Given the description of an element on the screen output the (x, y) to click on. 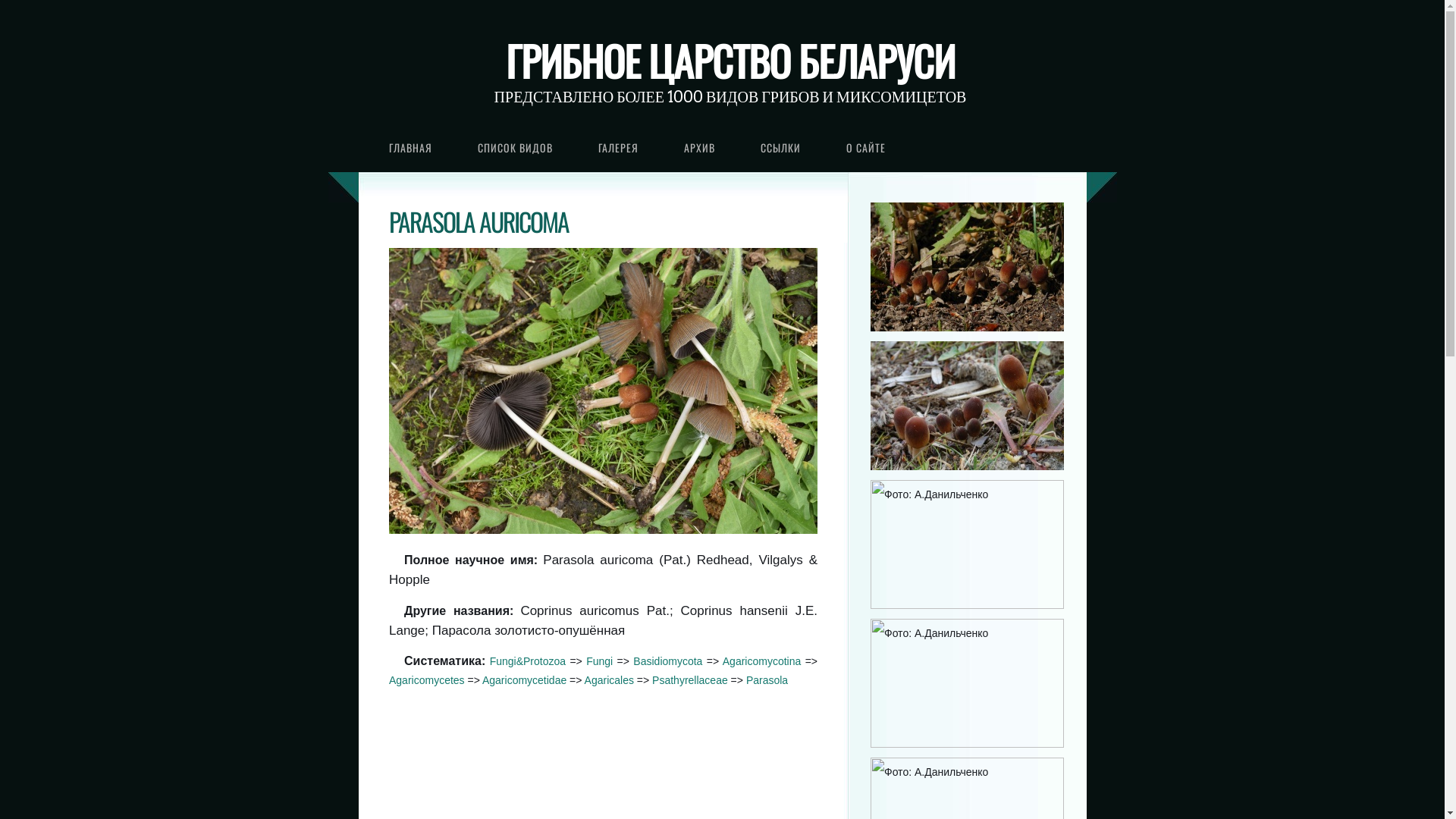
Fungi Element type: text (599, 661)
Agaricomycetidae Element type: text (524, 680)
Agaricomycotina Element type: text (761, 661)
Parasola Element type: text (766, 680)
Fungi&Protozoa Element type: text (527, 661)
Basidiomycota Element type: text (667, 661)
Agaricomycetes Element type: text (426, 680)
Agaricales Element type: text (608, 680)
Psathyrellaceae Element type: text (690, 680)
